Given the description of an element on the screen output the (x, y) to click on. 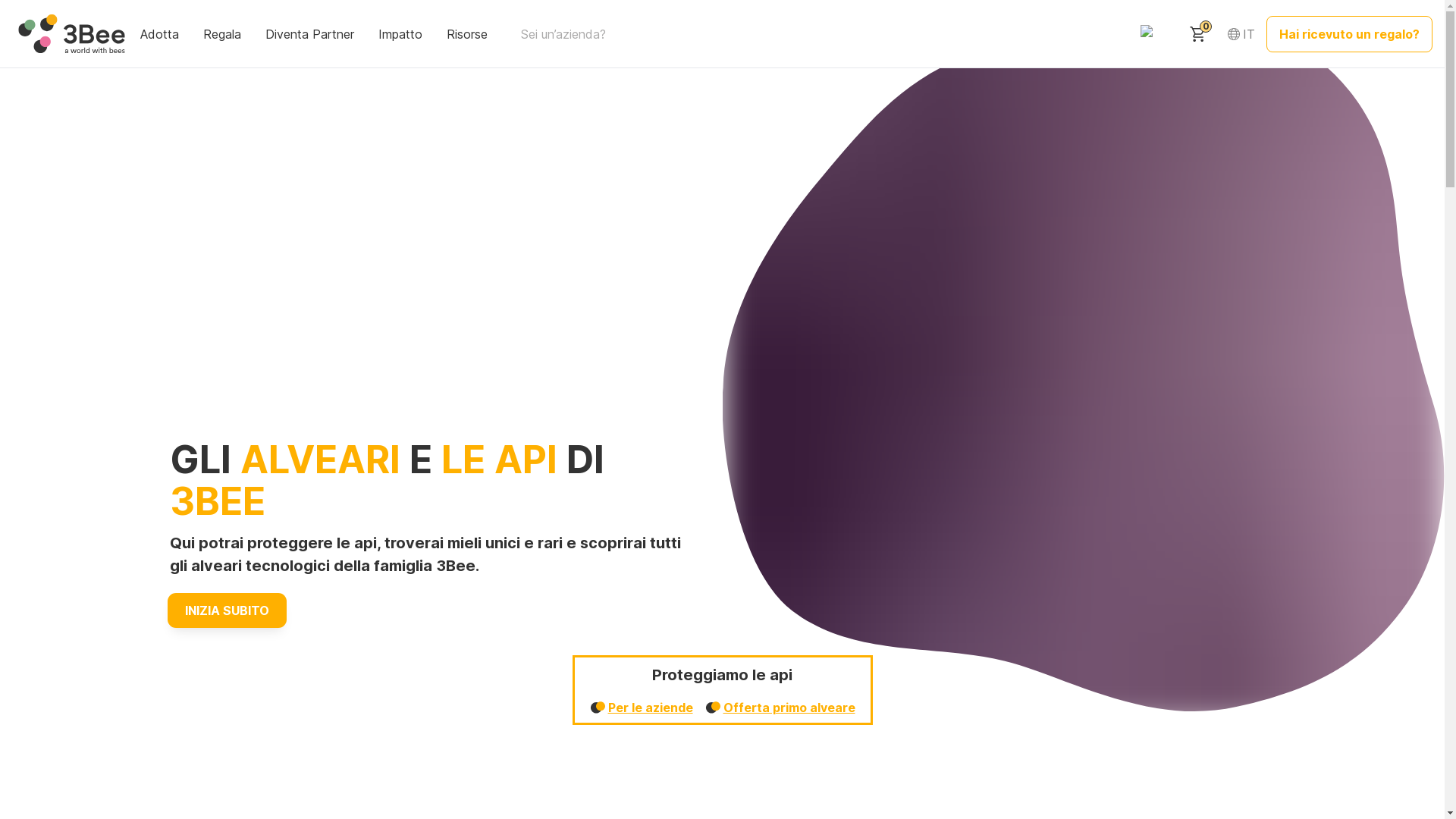
INIZIA SUBITO Element type: text (226, 609)
Impatto Element type: text (401, 33)
Risorse Element type: text (468, 33)
Regala Element type: text (223, 33)
Adotta Element type: text (161, 33)
Hai ricevuto un regalo? Element type: text (1349, 33)
Diventa Partner Element type: text (311, 33)
